Given the description of an element on the screen output the (x, y) to click on. 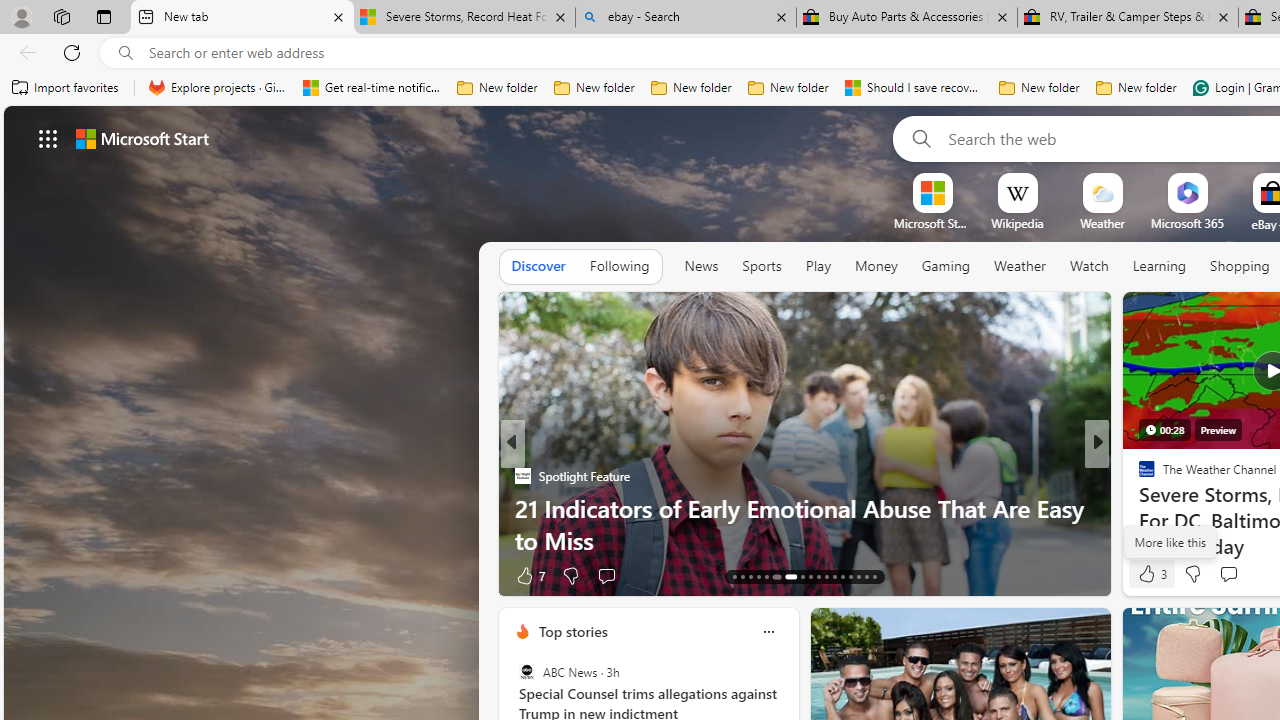
Simply More Time (1138, 507)
32 Like (1149, 574)
TheStreet (1138, 507)
Verywell Mind (1138, 507)
AutomationID: tab-17 (765, 576)
353 Like (1151, 574)
AutomationID: tab-24 (833, 576)
View comments 1 Comment (1241, 574)
ETNT Mind+Body (1138, 475)
